Given the description of an element on the screen output the (x, y) to click on. 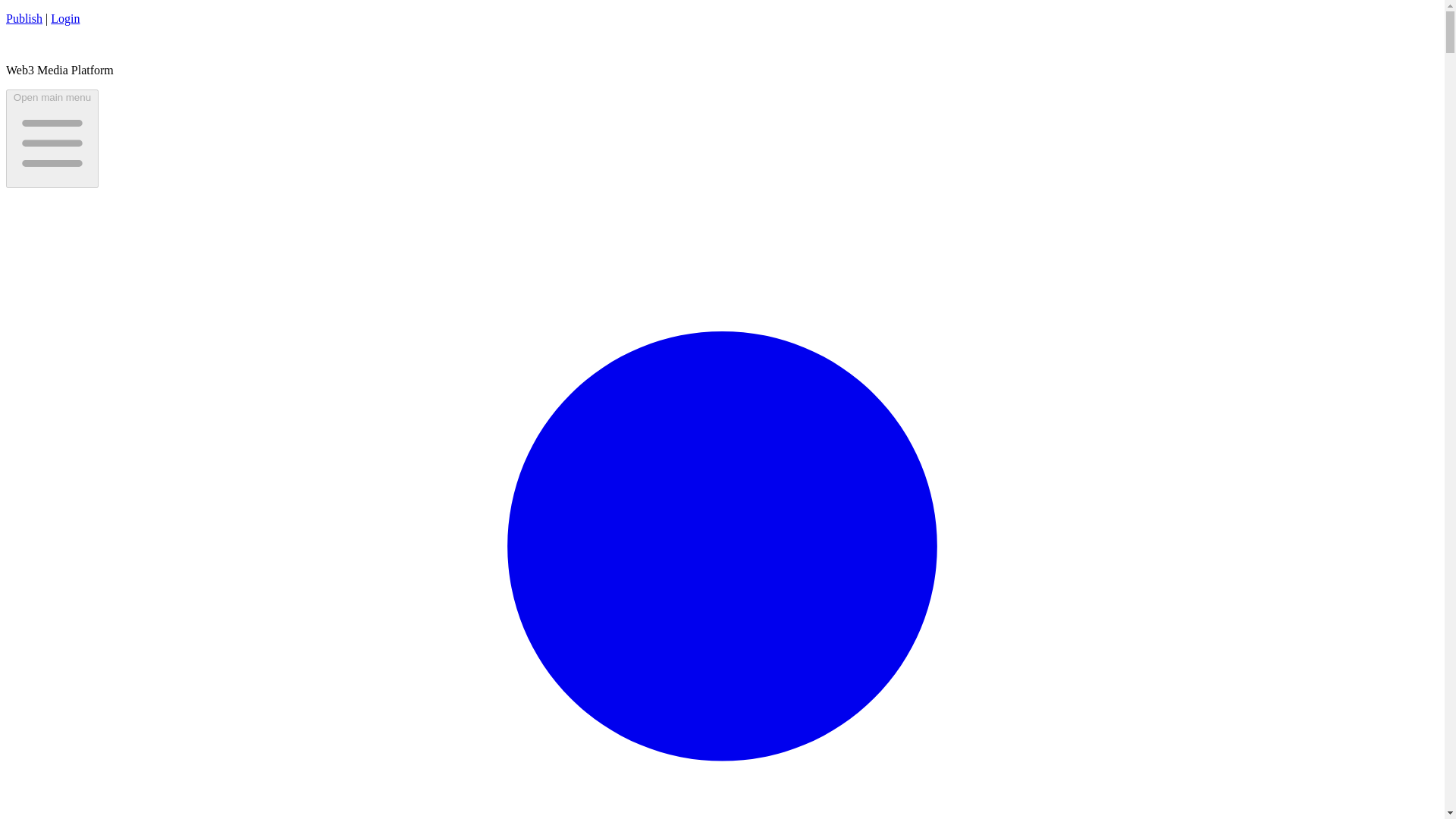
Open main menu (52, 138)
Publish (23, 18)
Login (65, 18)
